Given the description of an element on the screen output the (x, y) to click on. 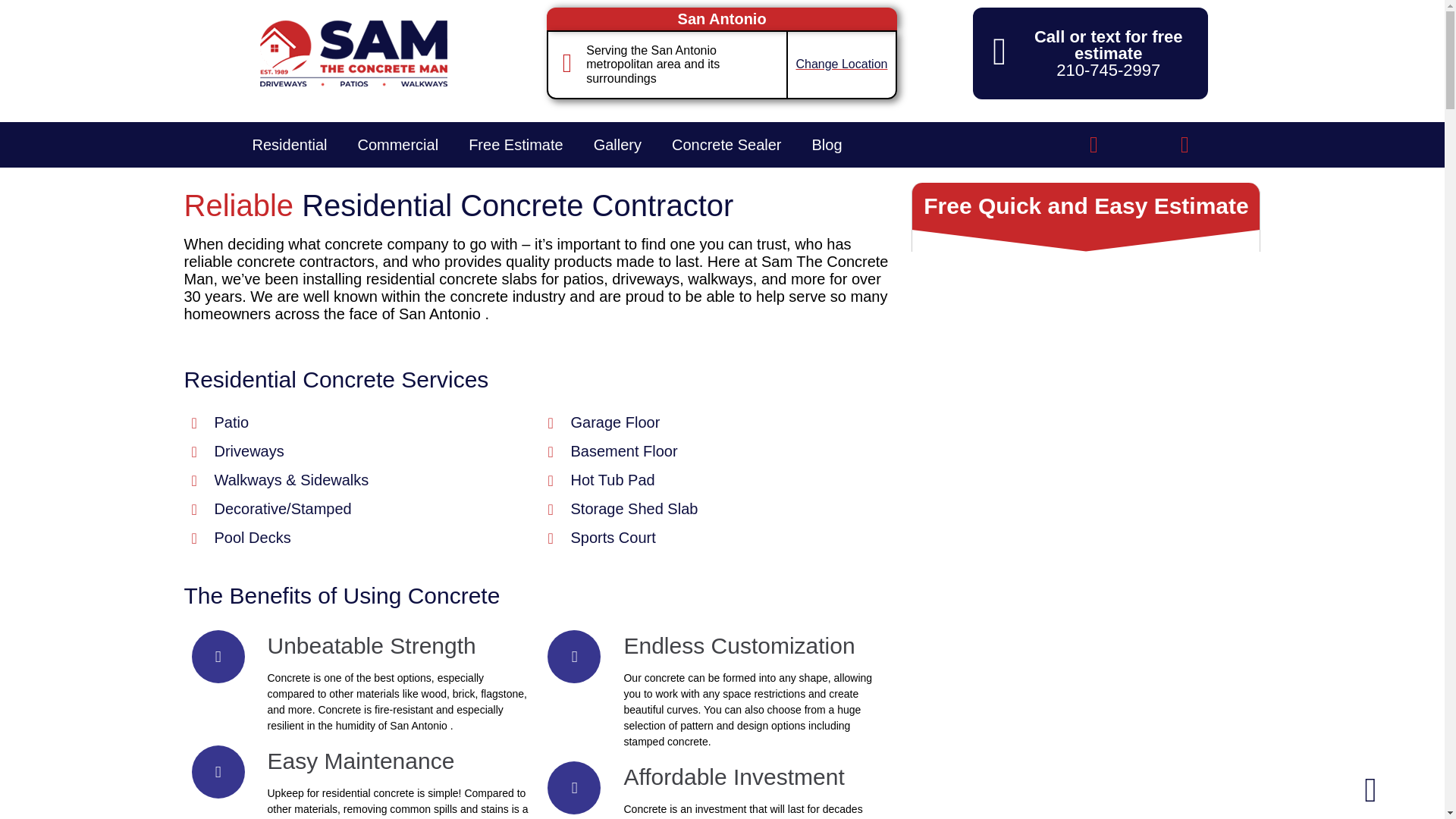
210-745-2997 (1108, 69)
Gallery (617, 144)
Commercial (397, 144)
Blog (826, 144)
Residential (288, 144)
Change Location (840, 63)
Free Estimate (515, 144)
Concrete Sealer (726, 144)
